Given the description of an element on the screen output the (x, y) to click on. 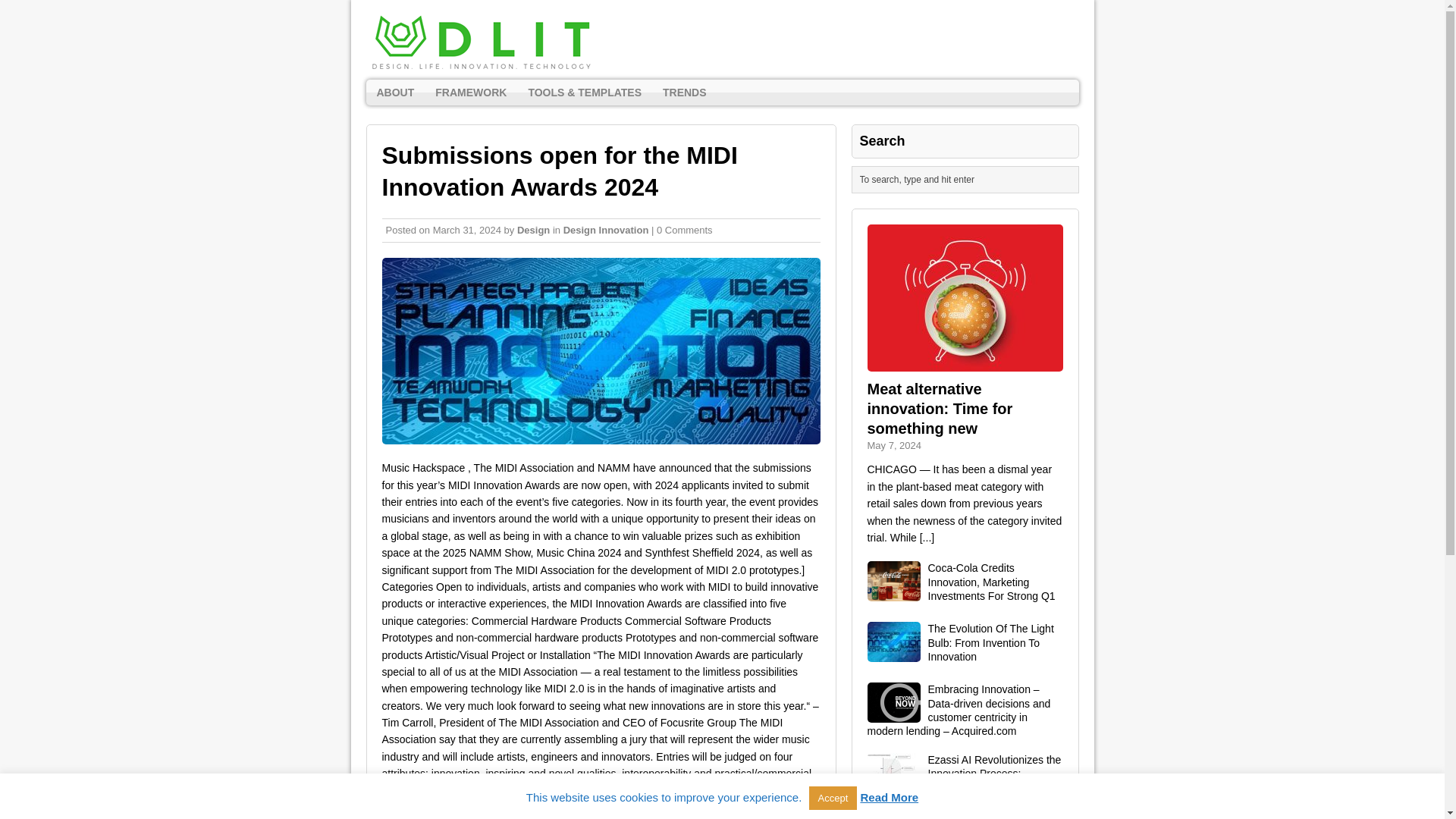
TRENDS (684, 92)
ABOUT (395, 92)
Design (533, 229)
Meat alternative innovation: Time for something new (964, 363)
FRAMEWORK (470, 92)
